Given the description of an element on the screen output the (x, y) to click on. 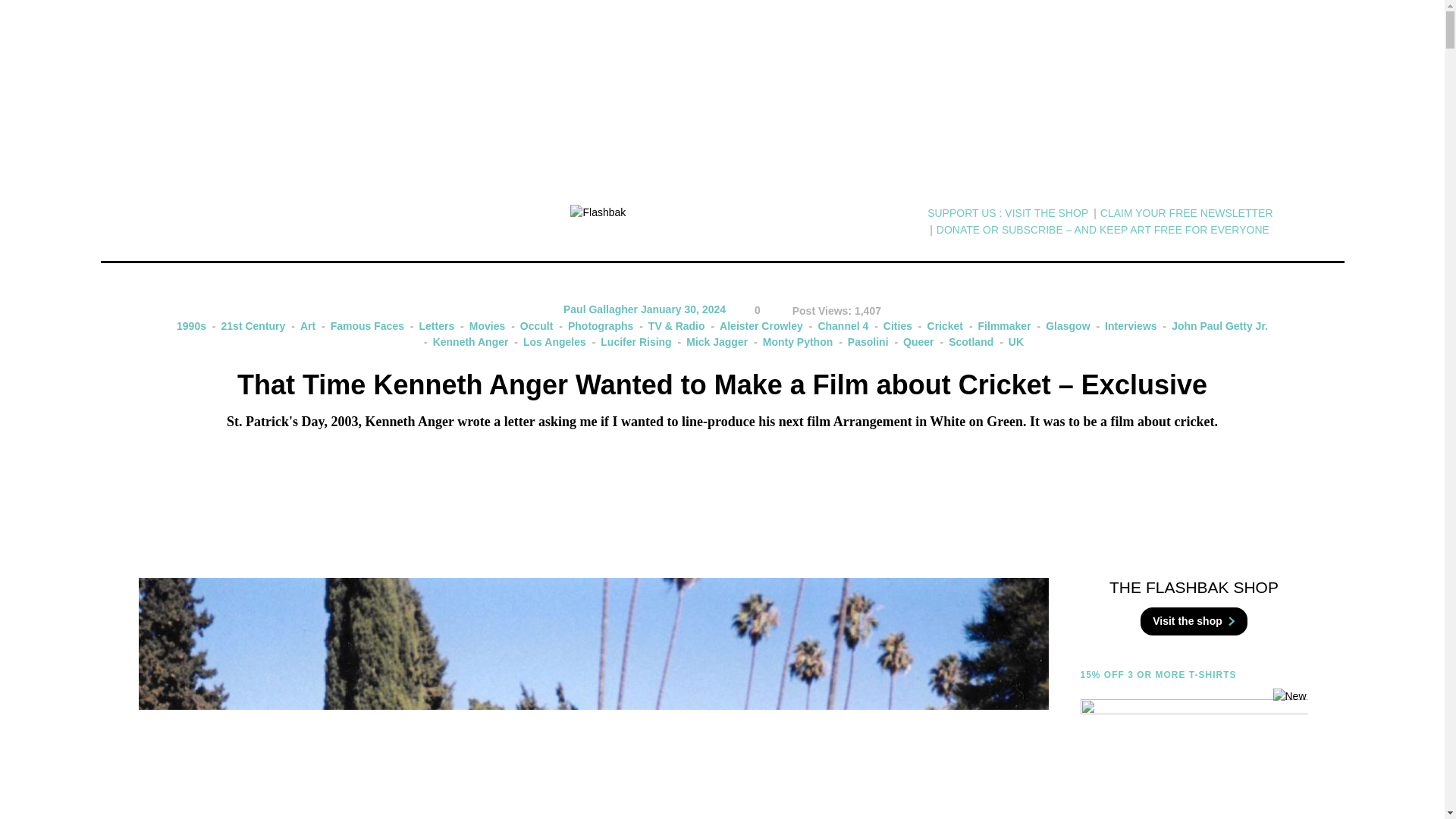
Glasgow (1061, 326)
Channel 4 (837, 326)
Movies (481, 326)
SUPPORT US : VISIT THE SHOP (1007, 213)
1990s (191, 326)
Posts by Paul Gallagher (600, 309)
Photographs (594, 326)
CLAIM YOUR FREE NEWSLETTER (1186, 213)
21st Century (247, 326)
Art (301, 326)
Occult (530, 326)
Cities (891, 326)
Paul Gallagher (600, 309)
Aleister Crowley (754, 326)
Cricket (938, 326)
